Given the description of an element on the screen output the (x, y) to click on. 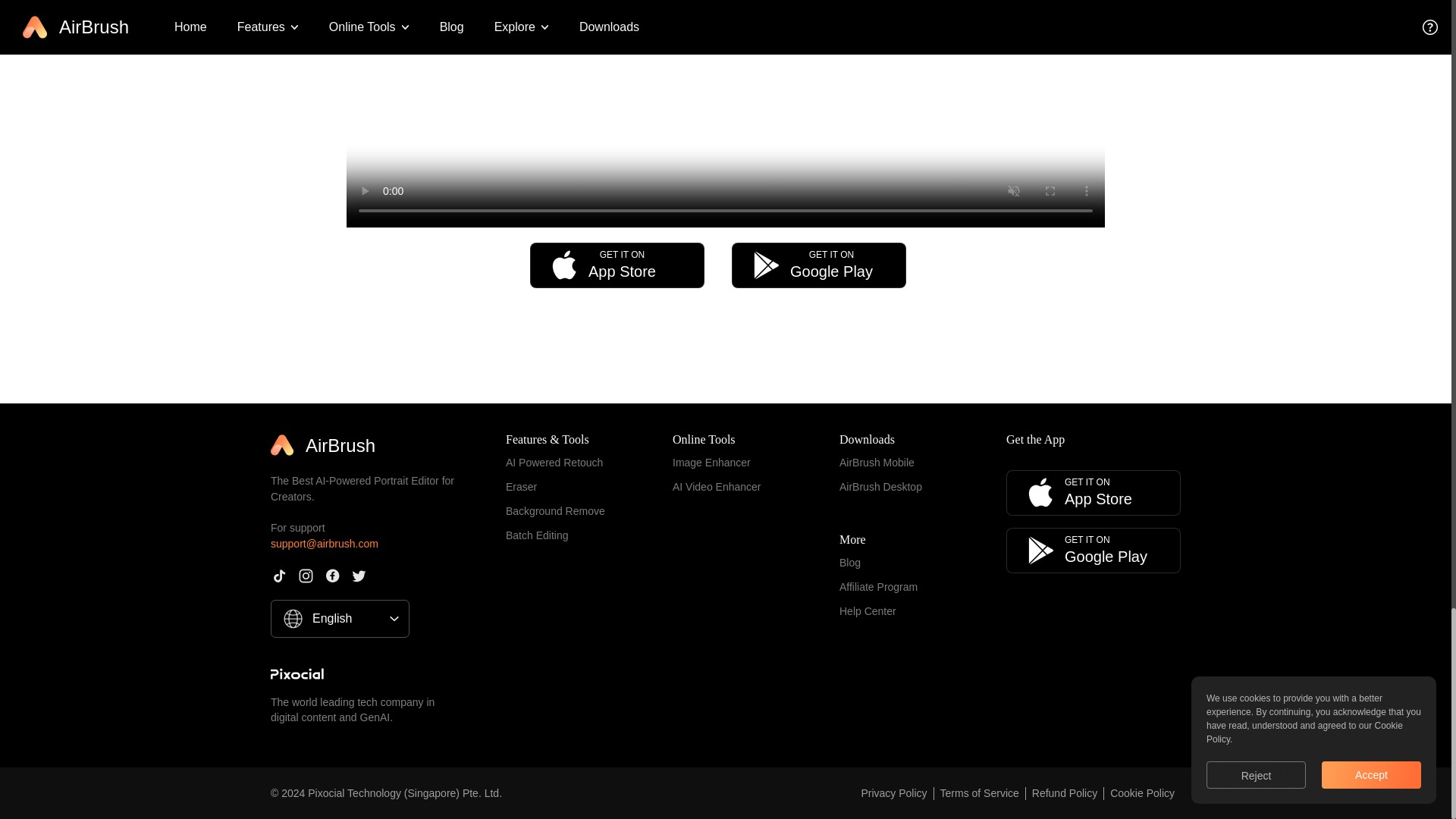
TikTok (279, 575)
Facebook (331, 575)
Twitter (818, 265)
Instagram (616, 265)
